Given the description of an element on the screen output the (x, y) to click on. 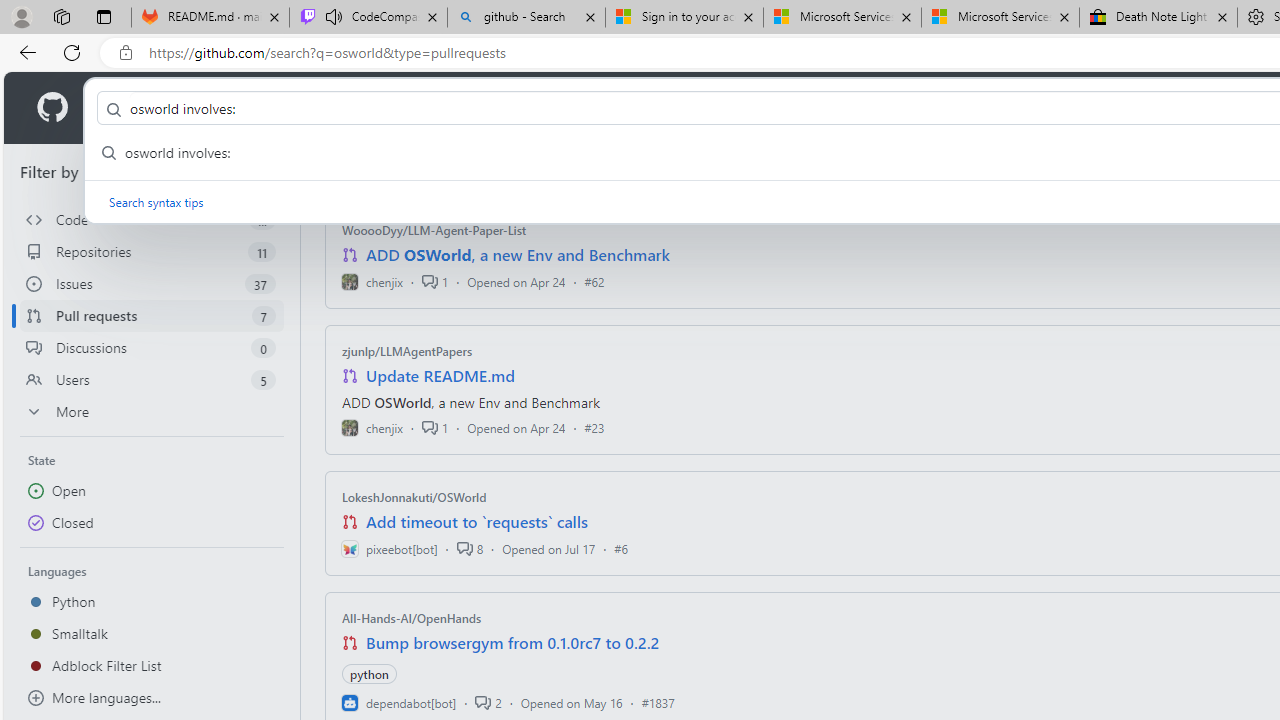
1 (435, 427)
ADD OSWorld, a new Env and Benchmark (517, 255)
#6 (621, 548)
Mute tab (333, 16)
More languages... (152, 697)
Update README.md (440, 376)
#62 (594, 281)
chenjix (372, 427)
